Given the description of an element on the screen output the (x, y) to click on. 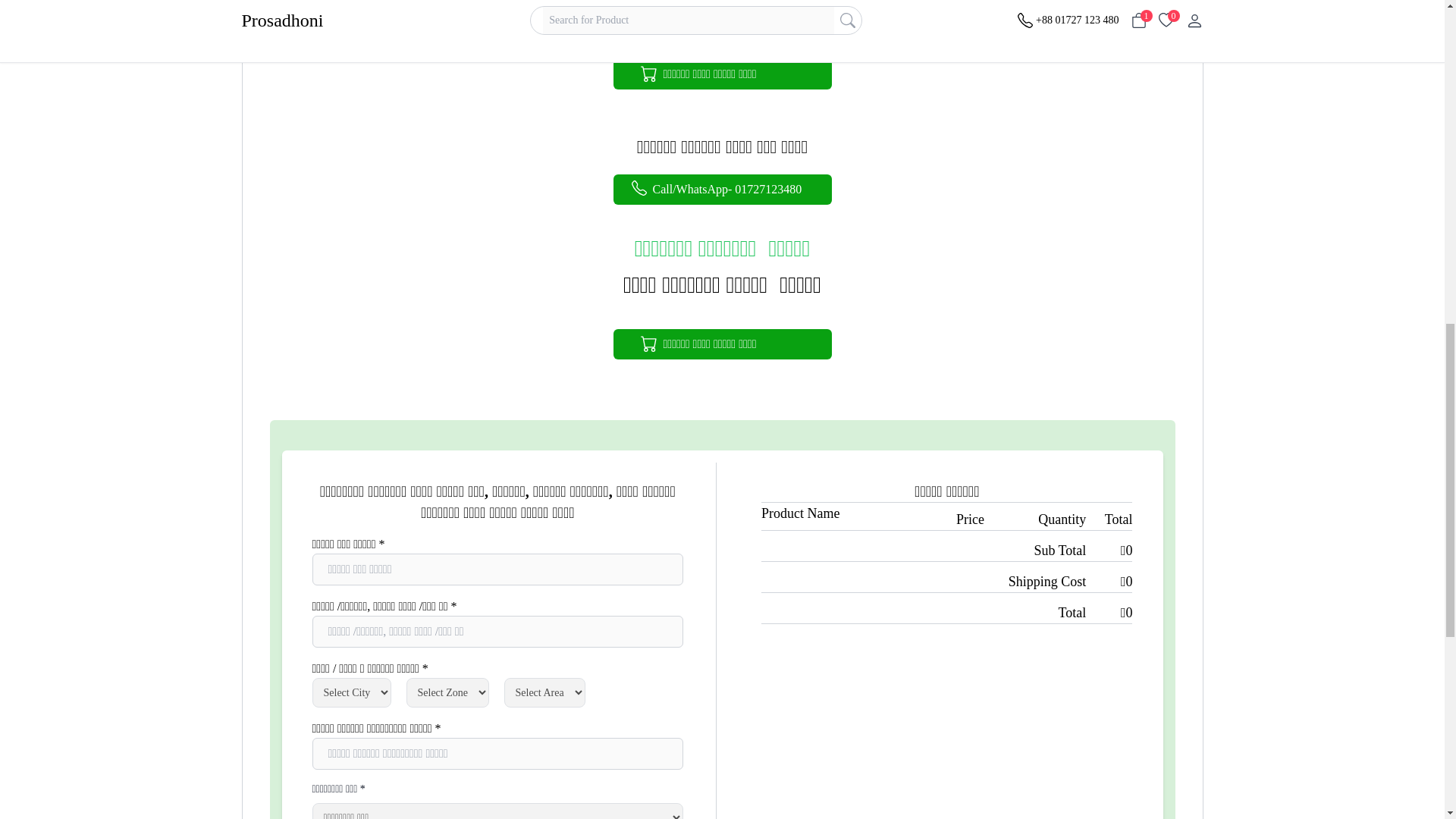
Previous (286, 389)
Next (1158, 104)
Next (1158, 389)
Previous (286, 104)
